Given the description of an element on the screen output the (x, y) to click on. 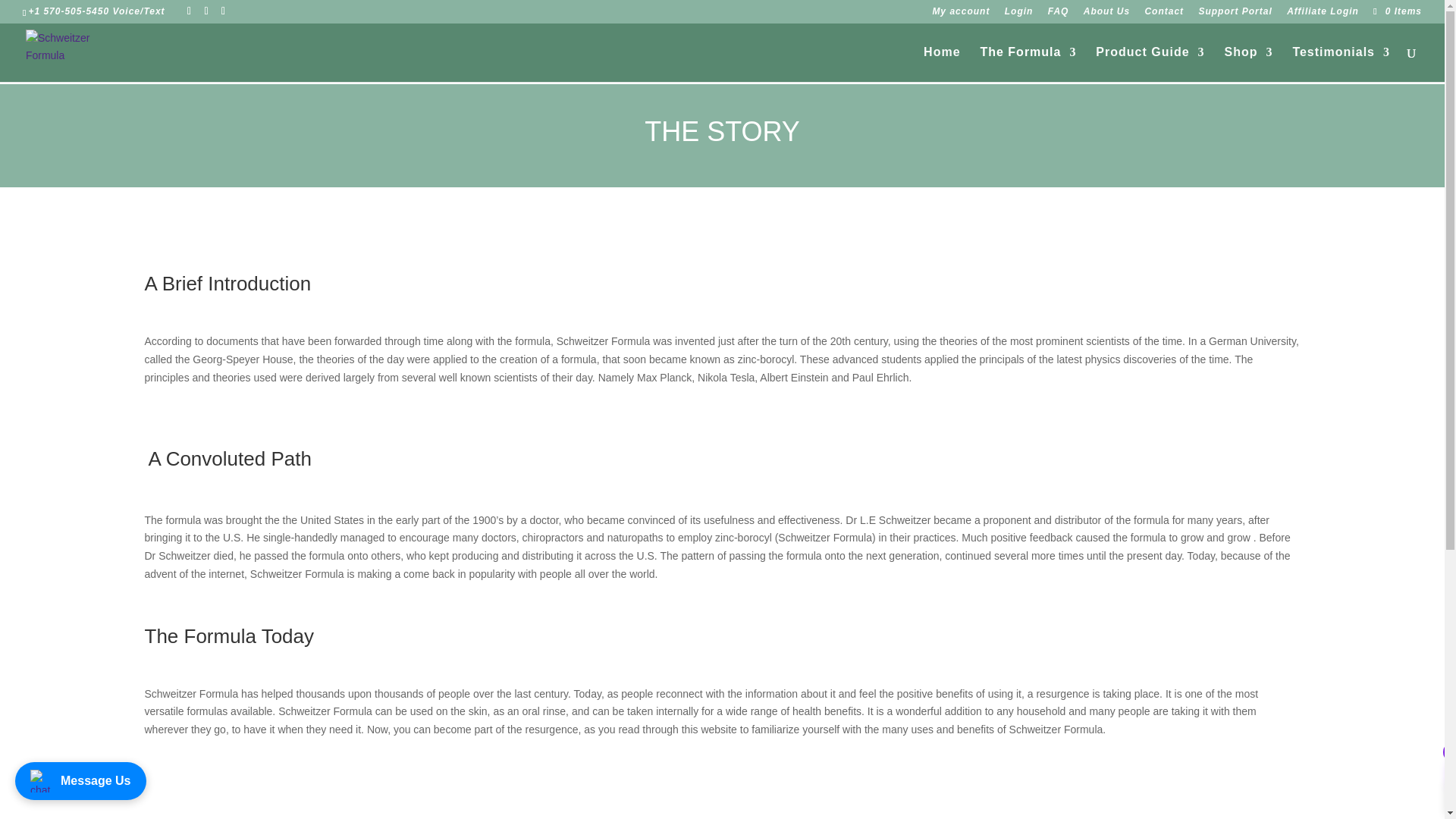
Product Guide (1150, 63)
Login (1018, 14)
Shop (1248, 63)
0 Items (1396, 10)
FAQ (1058, 14)
Message Us (80, 781)
Support Portal (1234, 14)
My account (960, 14)
Home (941, 63)
About Us (1106, 14)
